Given the description of an element on the screen output the (x, y) to click on. 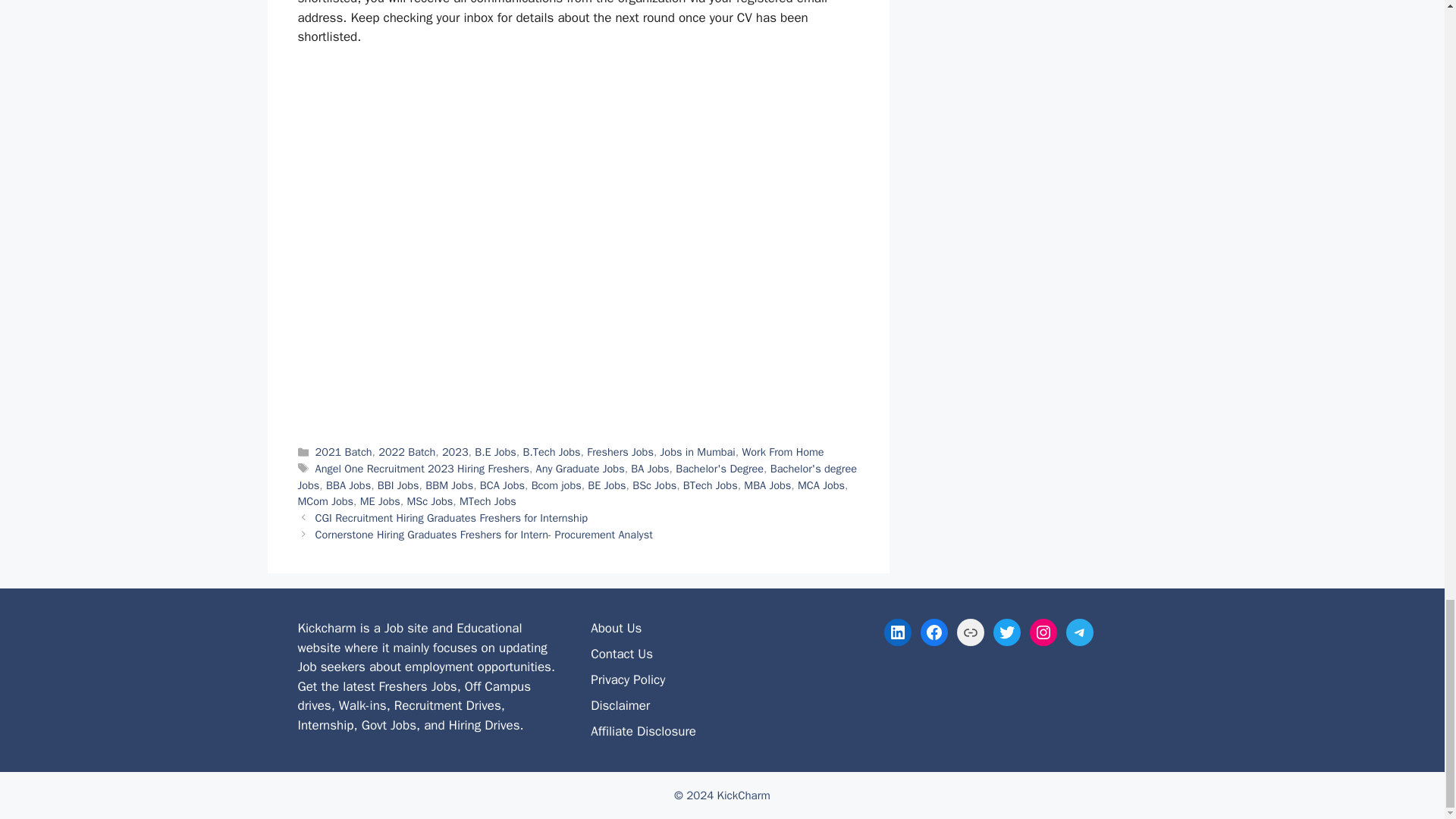
BBI Jobs (398, 485)
2023 (455, 451)
B.E Jobs (495, 451)
Work From Home (782, 451)
BA Jobs (649, 468)
Bcom jobs (555, 485)
Angel One Recruitment 2023 Hiring Freshers (422, 468)
Bachelor's degree Jobs (576, 476)
B.Tech Jobs (550, 451)
2022 Batch (406, 451)
Bachelor's Degree (718, 468)
Any Graduate Jobs (579, 468)
Advertisement (577, 134)
BCA Jobs (502, 485)
BBM Jobs (449, 485)
